Given the description of an element on the screen output the (x, y) to click on. 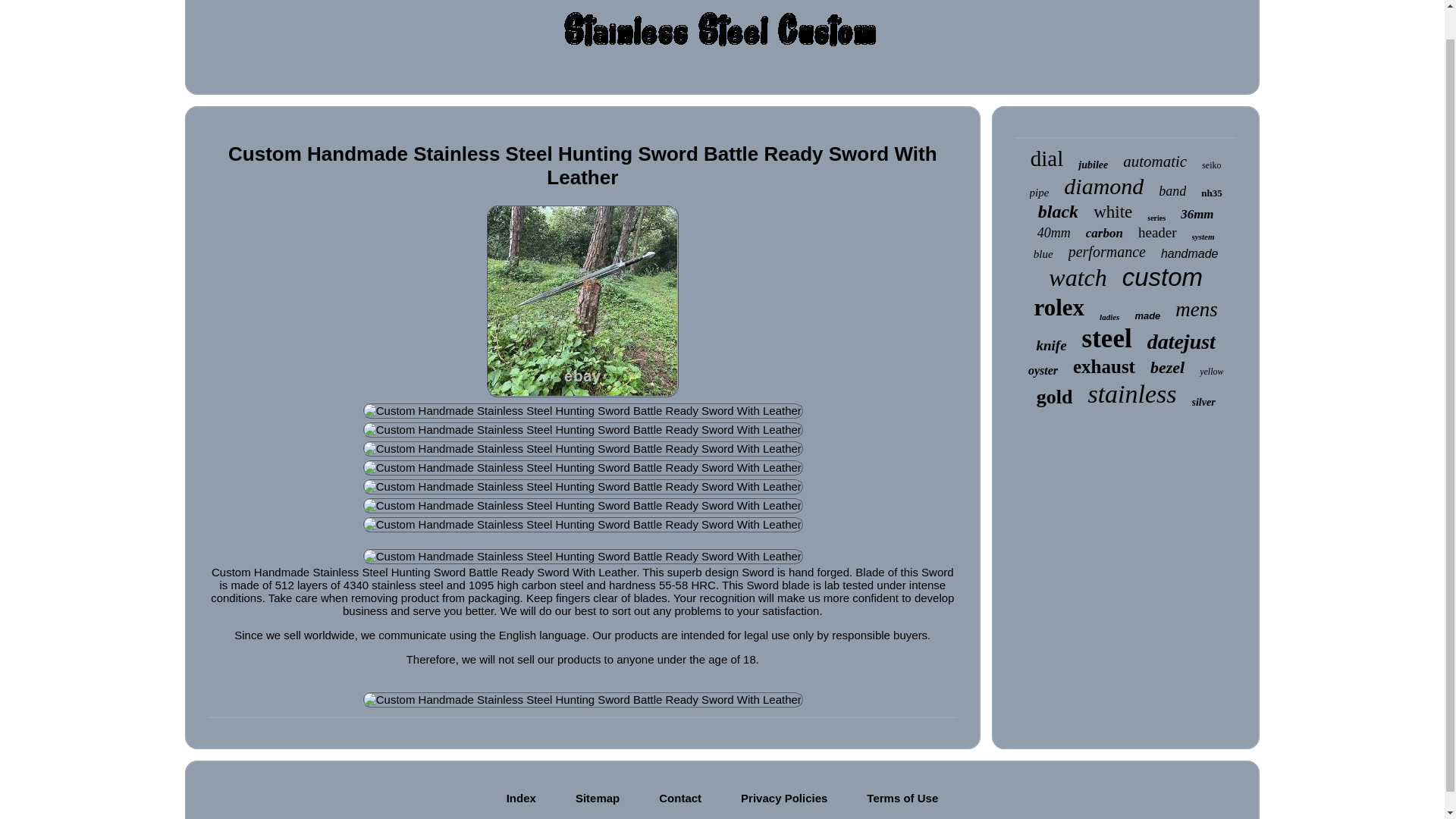
mens (1195, 309)
header (1157, 232)
handmade (1189, 254)
white (1112, 211)
band (1172, 191)
diamond (1103, 186)
blue (1042, 254)
pipe (1039, 192)
rolex (1058, 307)
automatic (1154, 161)
custom (1162, 276)
